Given the description of an element on the screen output the (x, y) to click on. 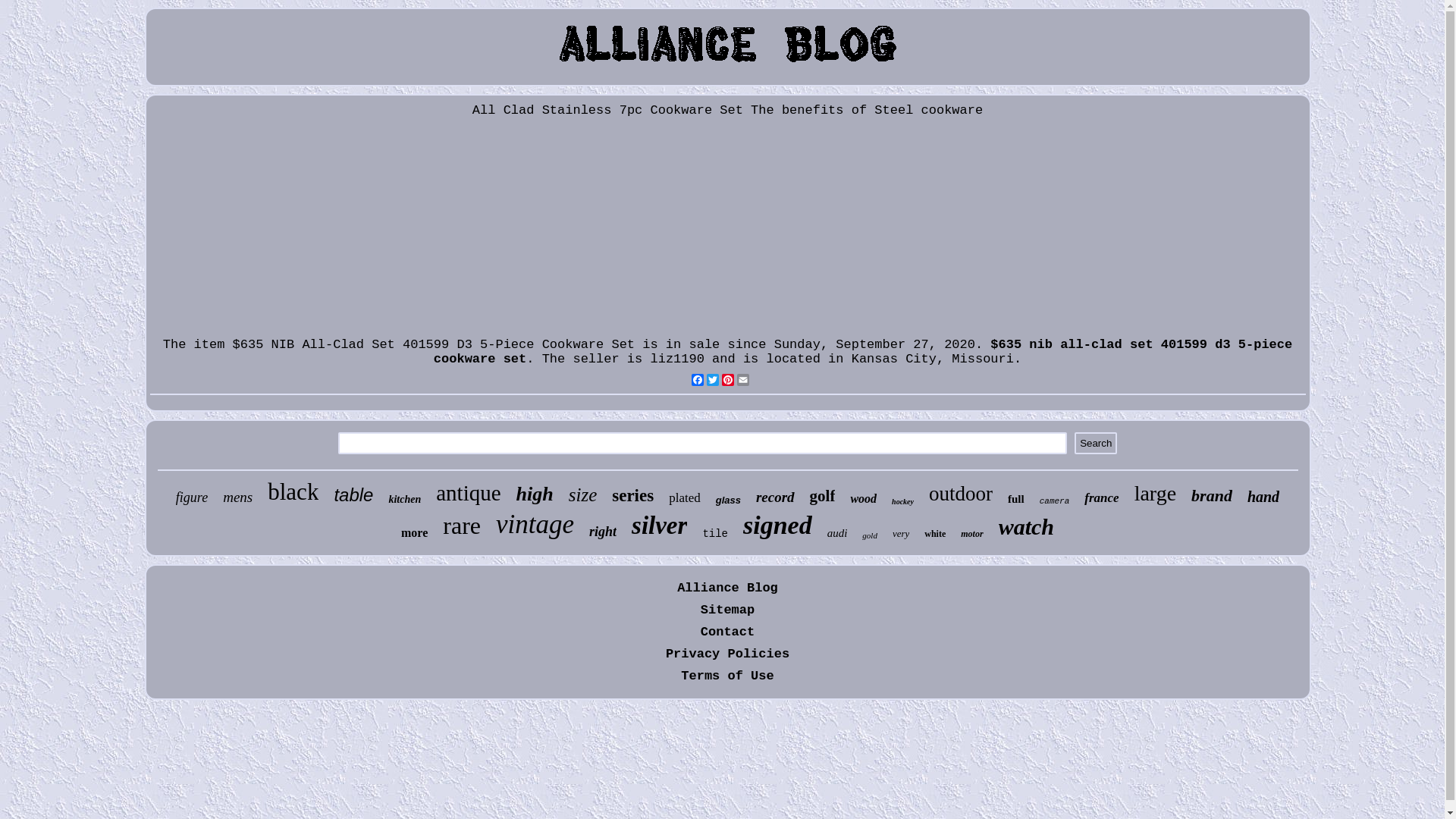
hockey Element type: text (902, 501)
outdoor Element type: text (960, 493)
golf Element type: text (822, 495)
camera Element type: text (1054, 500)
vintage Element type: text (534, 524)
Sitemap Element type: text (727, 609)
very Element type: text (900, 533)
Terms of Use Element type: text (726, 675)
figure Element type: text (191, 497)
Contact Element type: text (727, 631)
glass Element type: text (727, 499)
signed Element type: text (777, 525)
right Element type: text (602, 531)
kitchen Element type: text (404, 499)
wood Element type: text (863, 498)
size Element type: text (582, 494)
Pinterest Element type: text (727, 379)
silver Element type: text (659, 525)
plated Element type: text (684, 497)
black Element type: text (292, 491)
hand Element type: text (1263, 496)
Privacy Policies Element type: text (727, 653)
rare Element type: text (461, 525)
record Element type: text (775, 497)
series Element type: text (632, 495)
motor Element type: text (971, 533)
Email Element type: text (742, 379)
france Element type: text (1101, 497)
high Element type: text (534, 494)
white Element type: text (934, 533)
antique Element type: text (468, 492)
gold Element type: text (869, 534)
tile Element type: text (715, 533)
brand Element type: text (1211, 495)
Twitter Element type: text (712, 379)
audi Element type: text (837, 533)
Alliance Blog Element type: text (727, 587)
Facebook Element type: text (697, 379)
table Element type: text (353, 494)
mens Element type: text (237, 497)
watch Element type: text (1026, 526)
more Element type: text (414, 532)
large Element type: text (1155, 493)
$635 nib all-clad set 401599 d3 5-piece cookware set Element type: text (862, 351)
full Element type: text (1015, 498)
Search Element type: text (1095, 443)
